Given the description of an element on the screen output the (x, y) to click on. 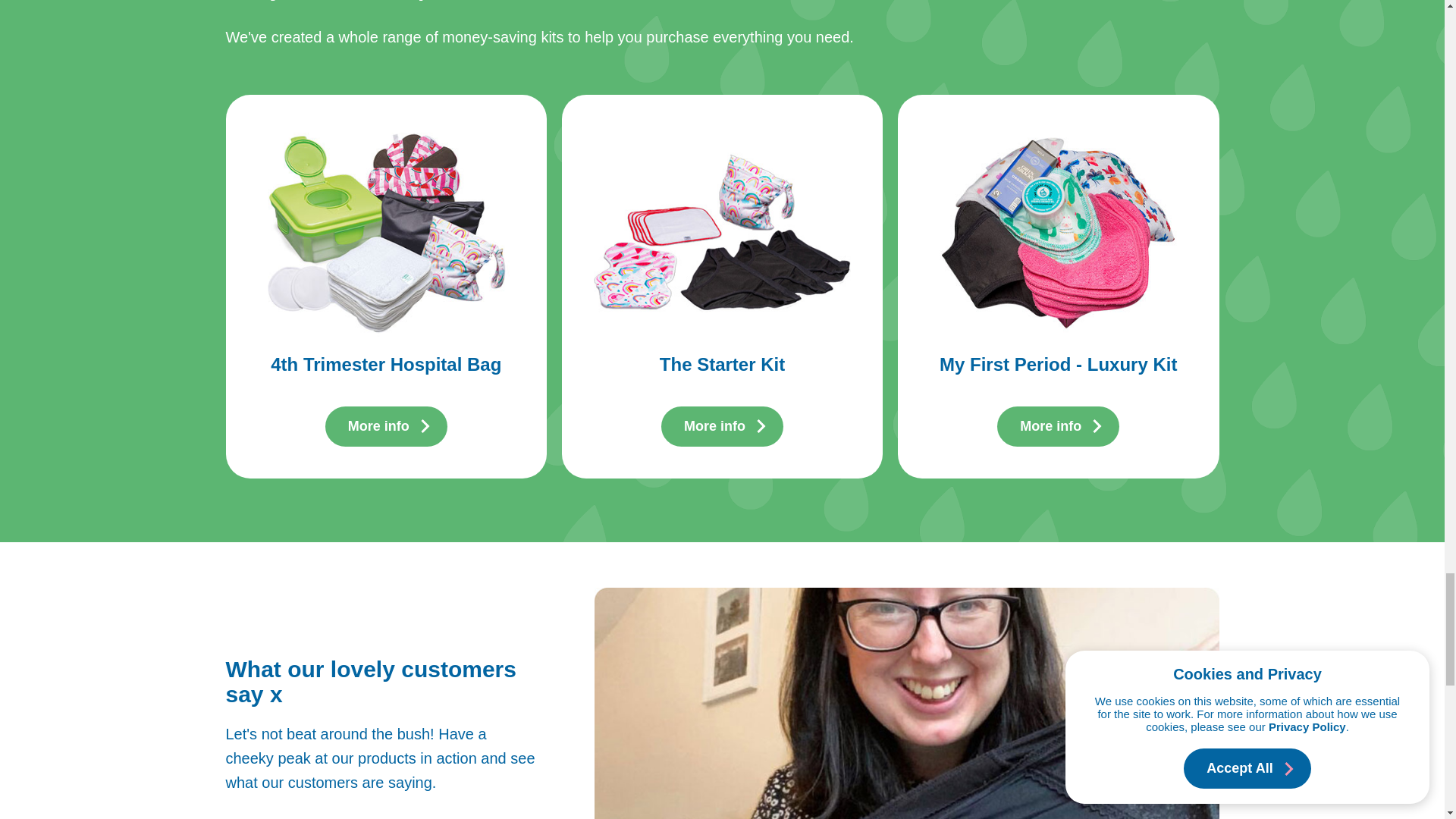
More info (378, 426)
More info (714, 426)
The Starter Kit (721, 363)
4th Trimester Hospital Bag (385, 363)
